Given the description of an element on the screen output the (x, y) to click on. 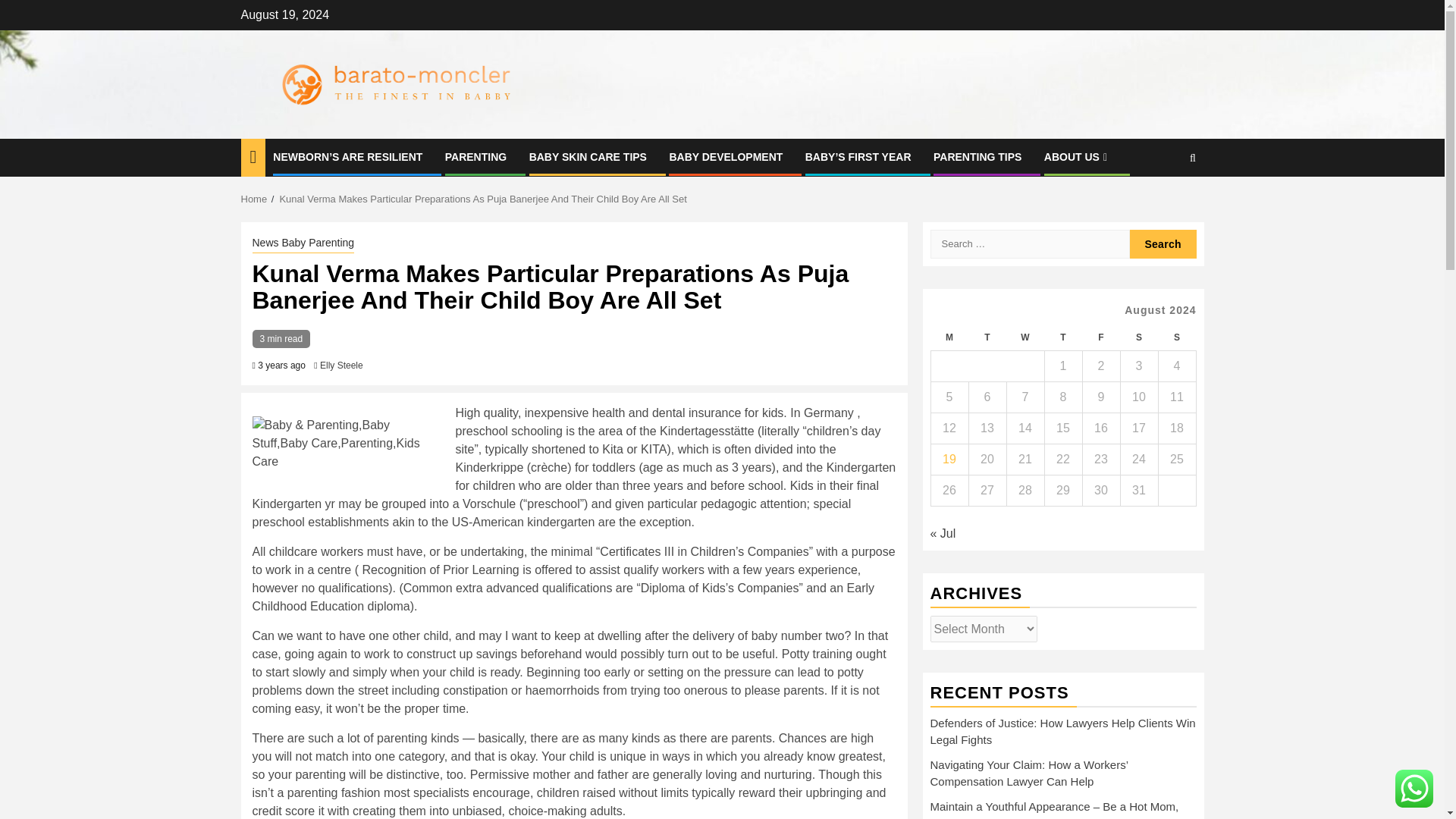
Wednesday (1024, 337)
Sunday (1176, 337)
ABOUT US (1076, 156)
Search (1162, 244)
PARENTING TIPS (977, 156)
Search (1163, 203)
News Baby Parenting (302, 244)
Friday (1100, 337)
Tuesday (987, 337)
